Given the description of an element on the screen output the (x, y) to click on. 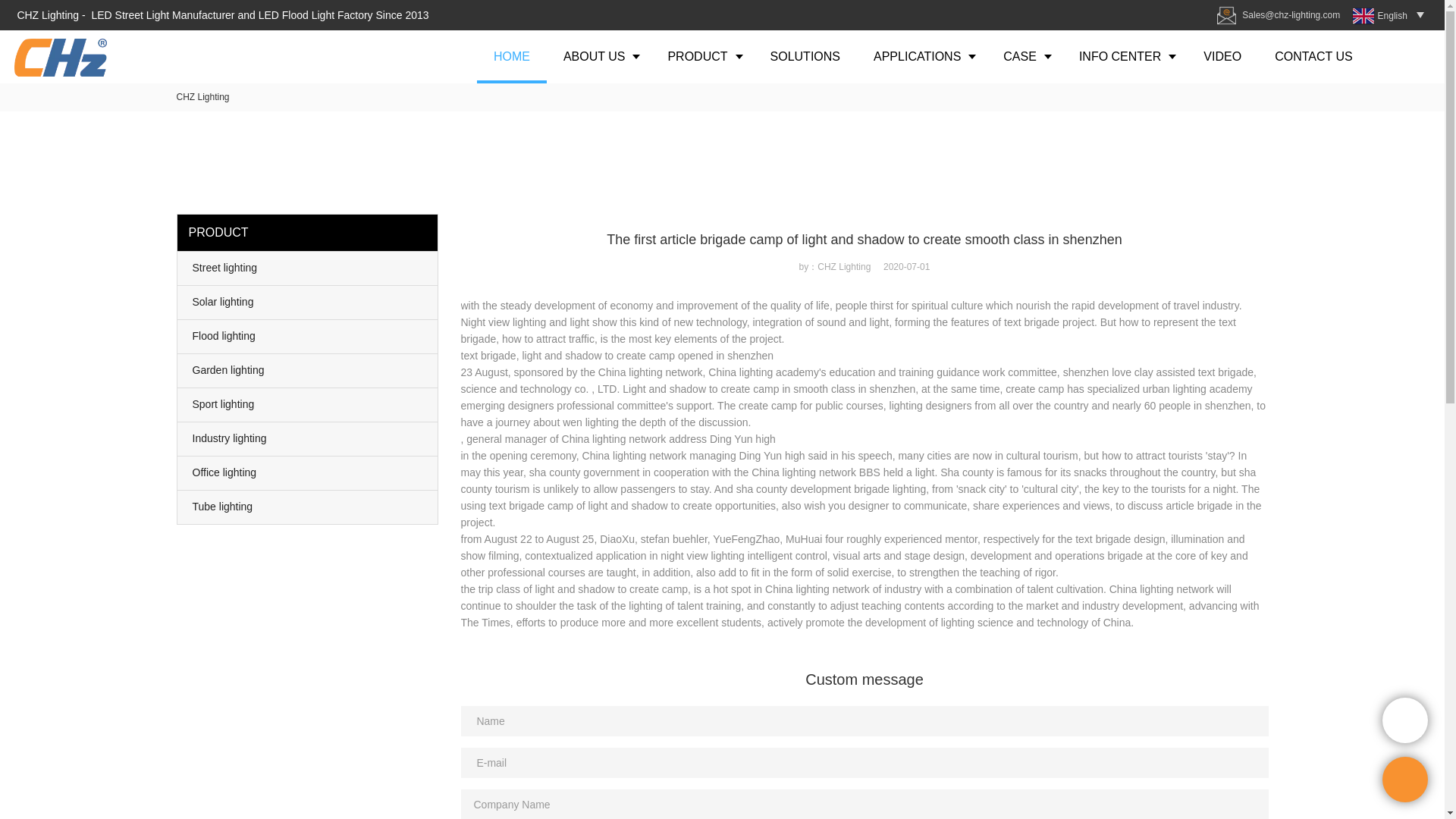
PRODUCT (701, 56)
APPLICATIONS (922, 56)
SOLUTIONS (805, 56)
CASE (1024, 56)
ABOUT US (598, 56)
HOME (512, 56)
